Given the description of an element on the screen output the (x, y) to click on. 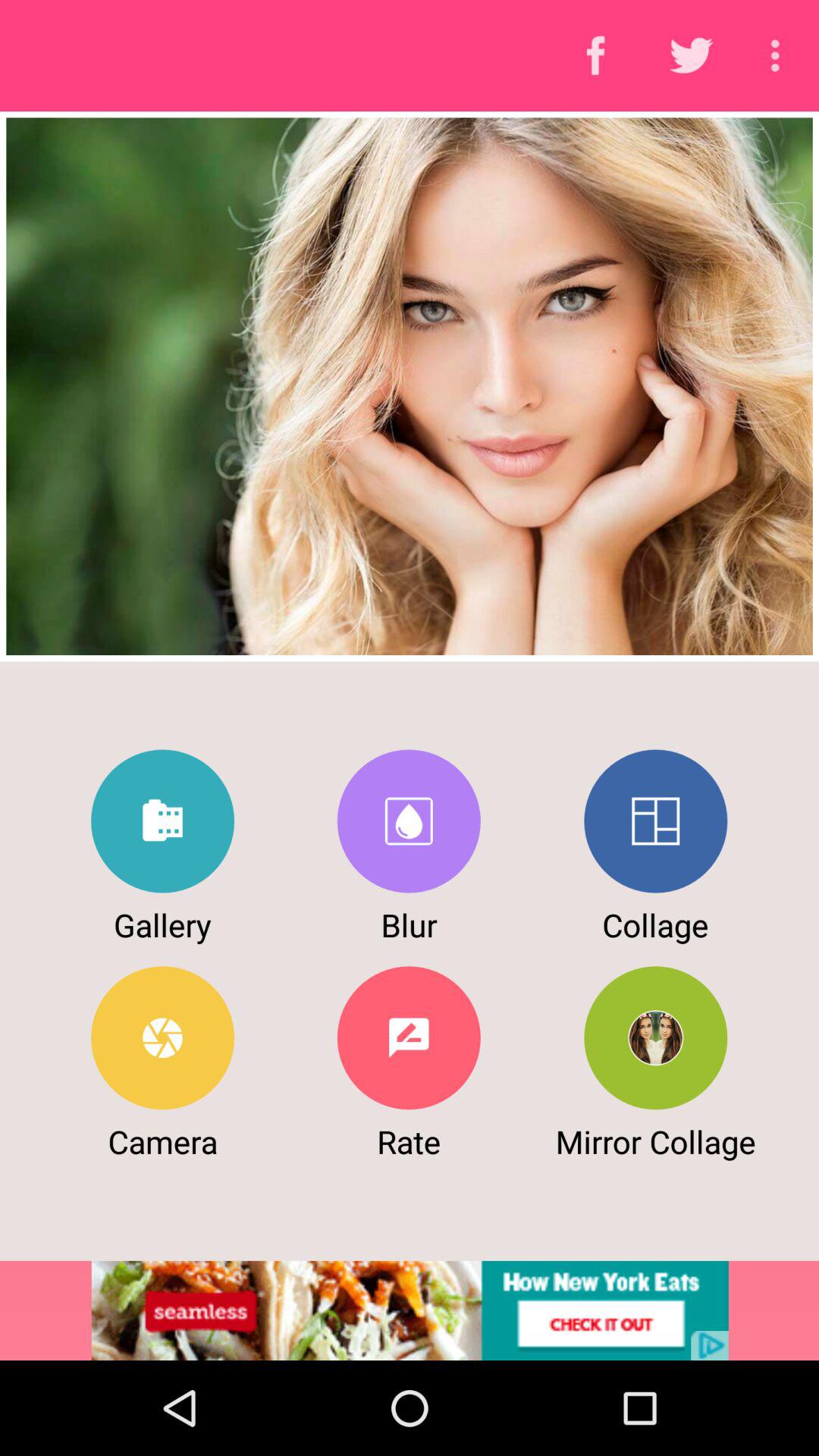
select camera (162, 1037)
